Given the description of an element on the screen output the (x, y) to click on. 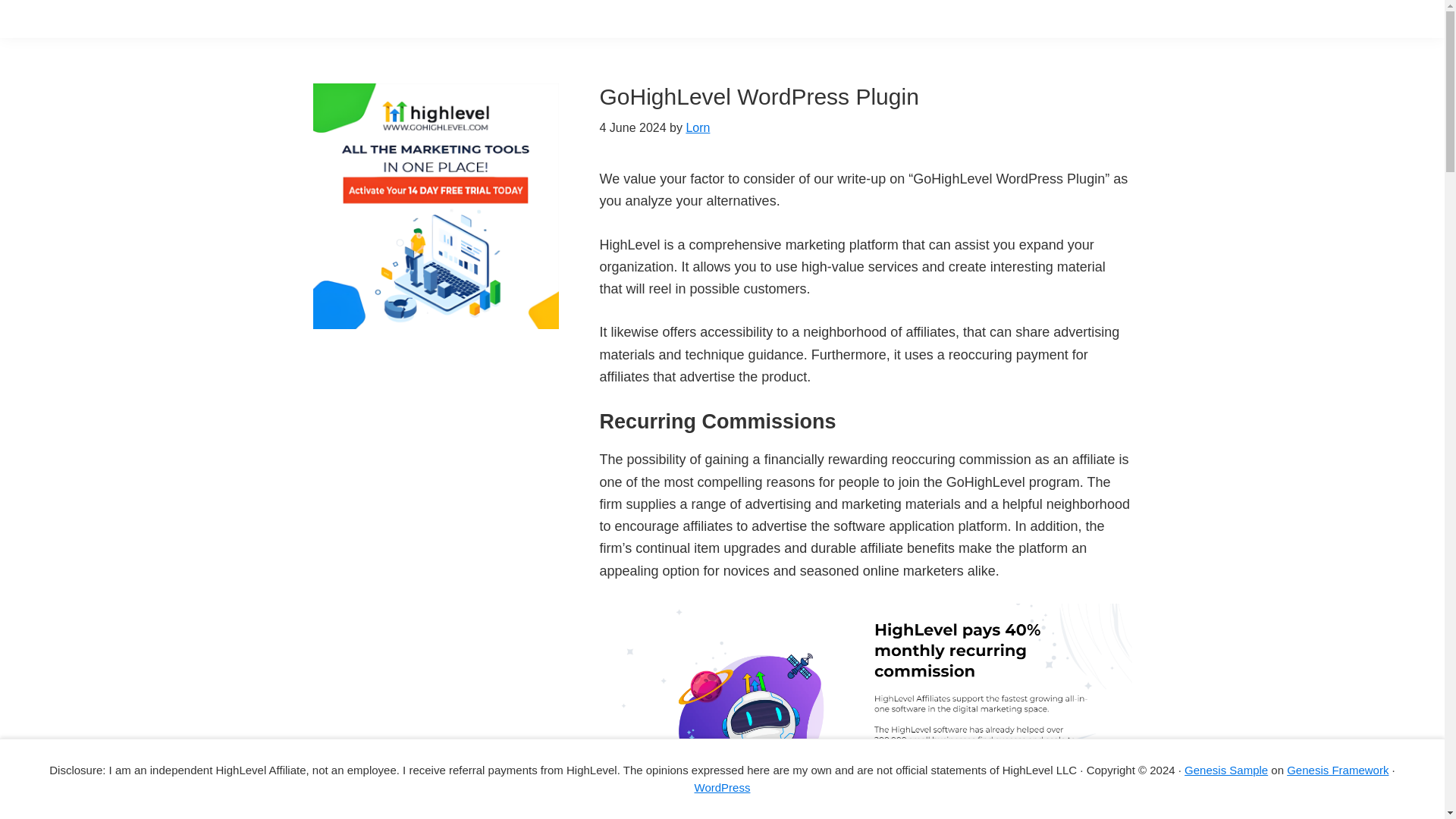
WordPress (722, 787)
Genesis Framework (1338, 769)
Genesis Sample (1226, 769)
Lorn (697, 127)
